Given the description of an element on the screen output the (x, y) to click on. 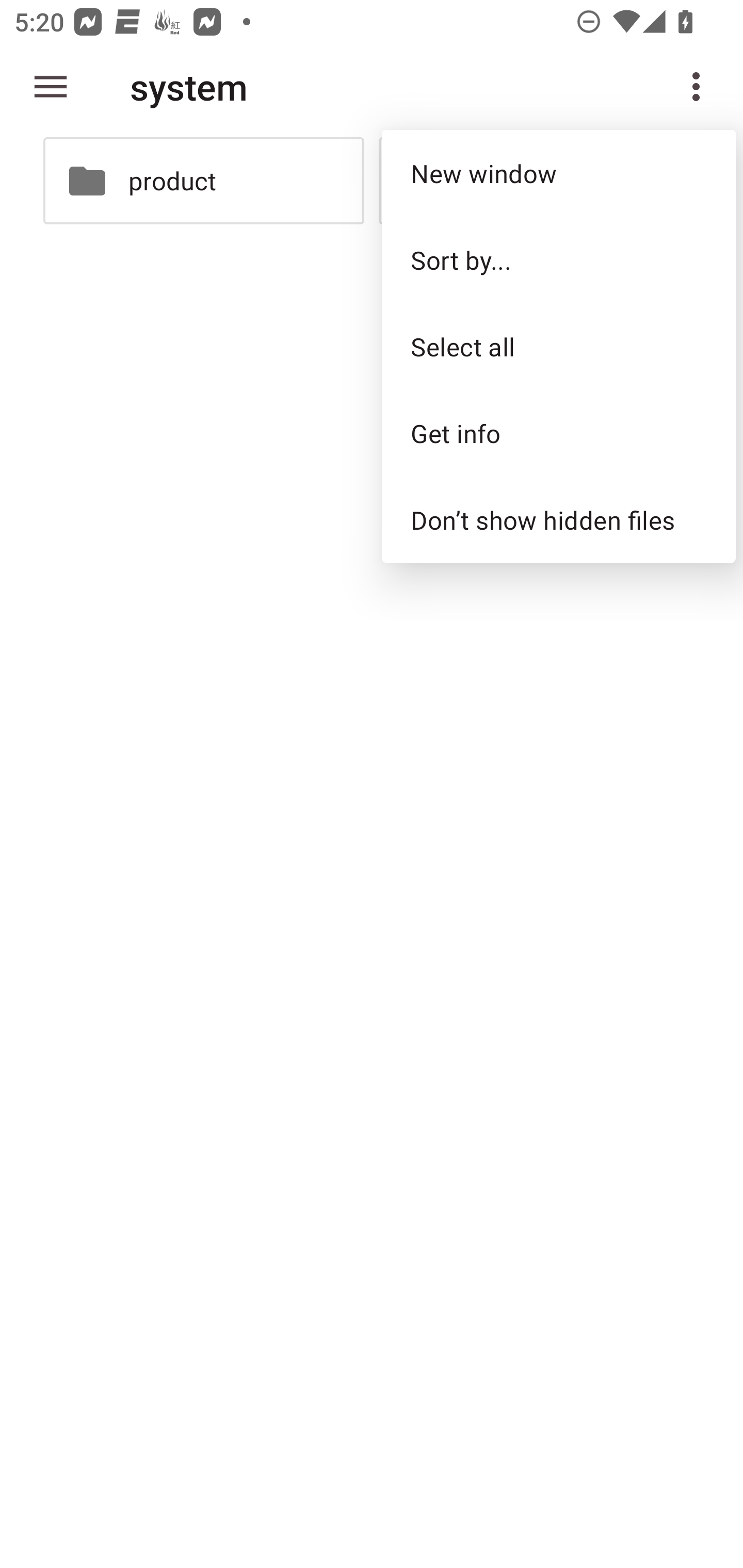
New window (558, 173)
Sort by... (558, 259)
Select all (558, 346)
Get info (558, 433)
Don’t show hidden files (558, 519)
